Given the description of an element on the screen output the (x, y) to click on. 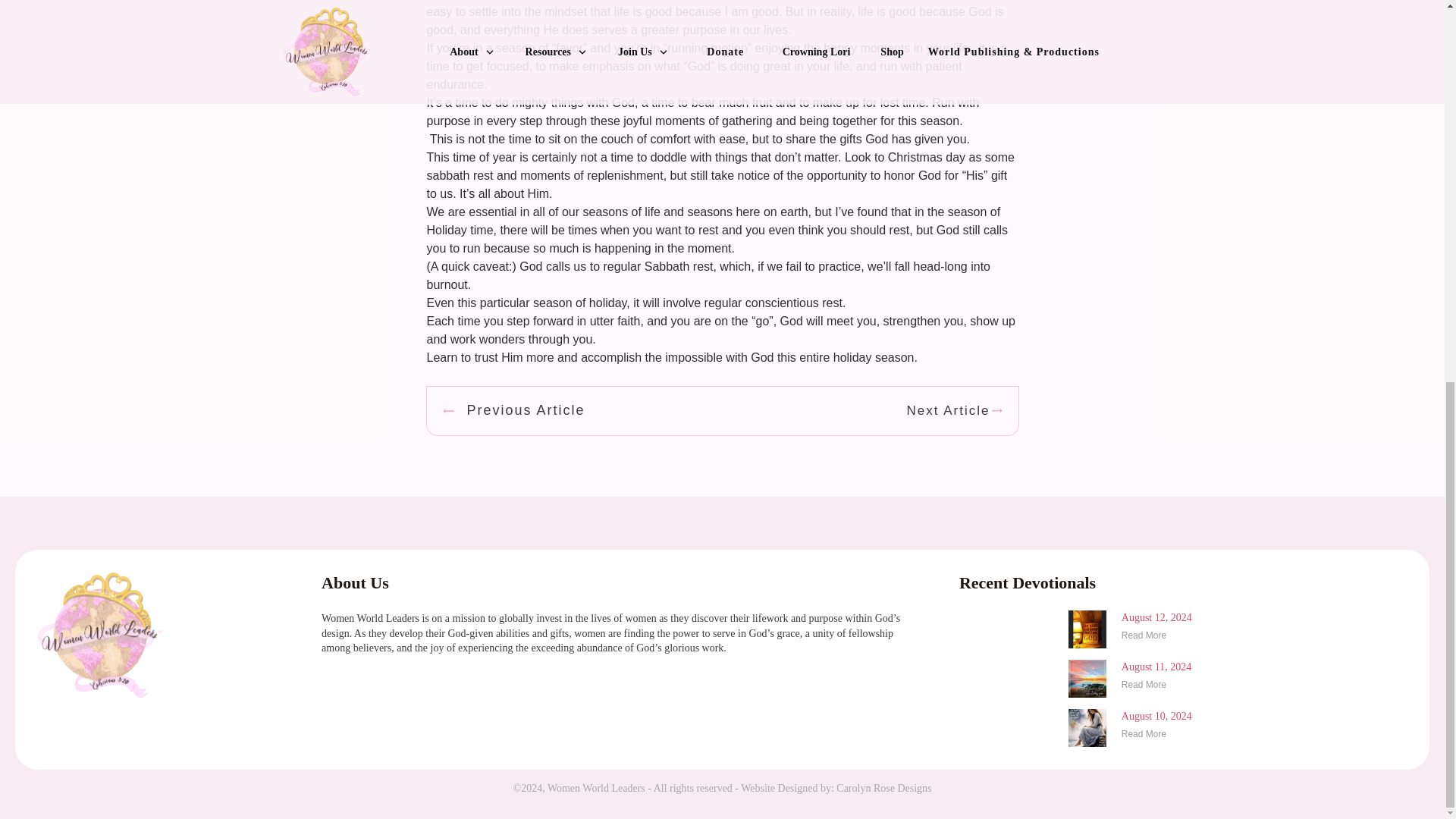
August 10, 2024 (1156, 715)
August 12, 2024 (1156, 617)
August 11, 2024 (1156, 666)
